Given the description of an element on the screen output the (x, y) to click on. 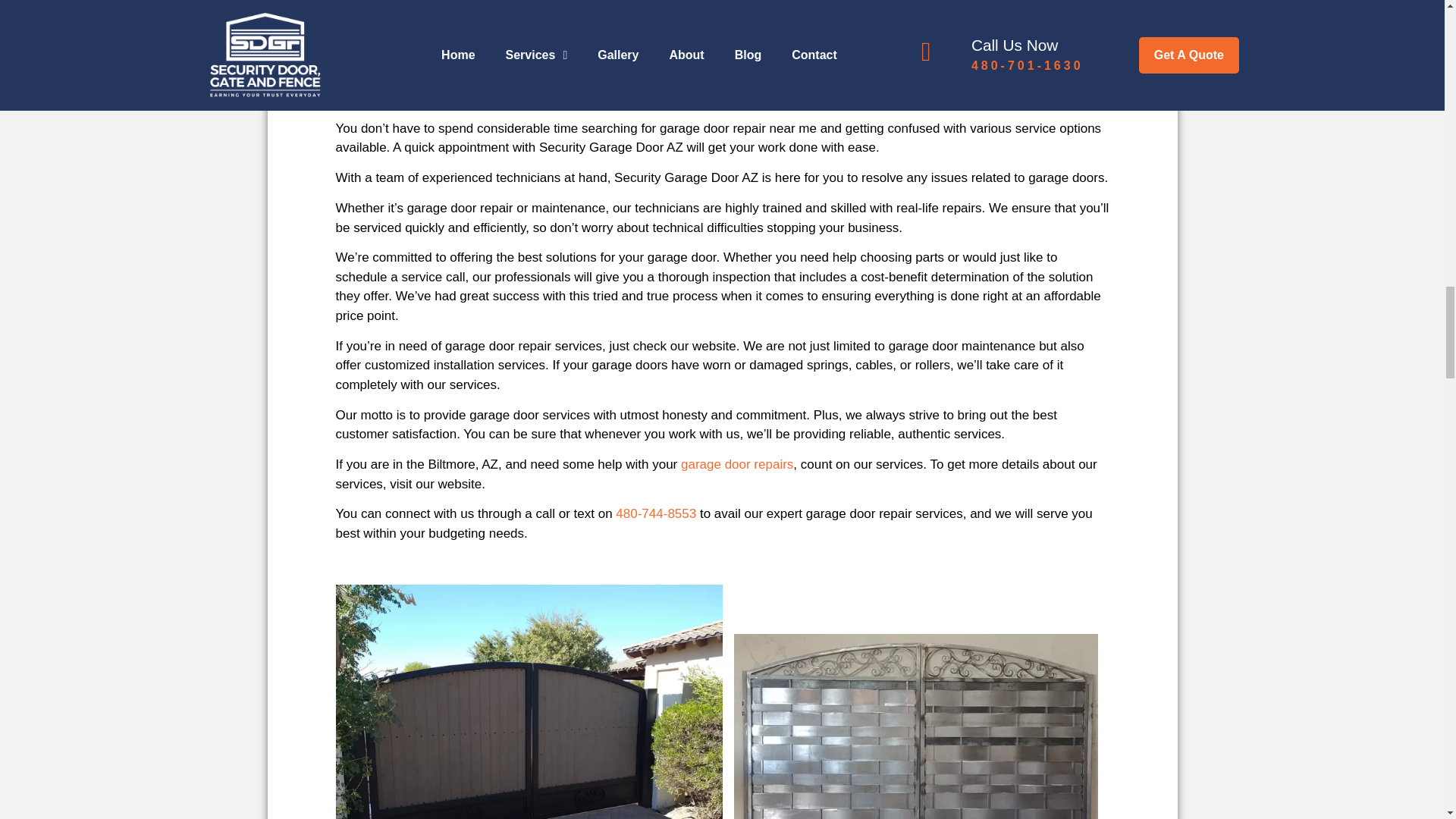
C6 (528, 701)
